Given the description of an element on the screen output the (x, y) to click on. 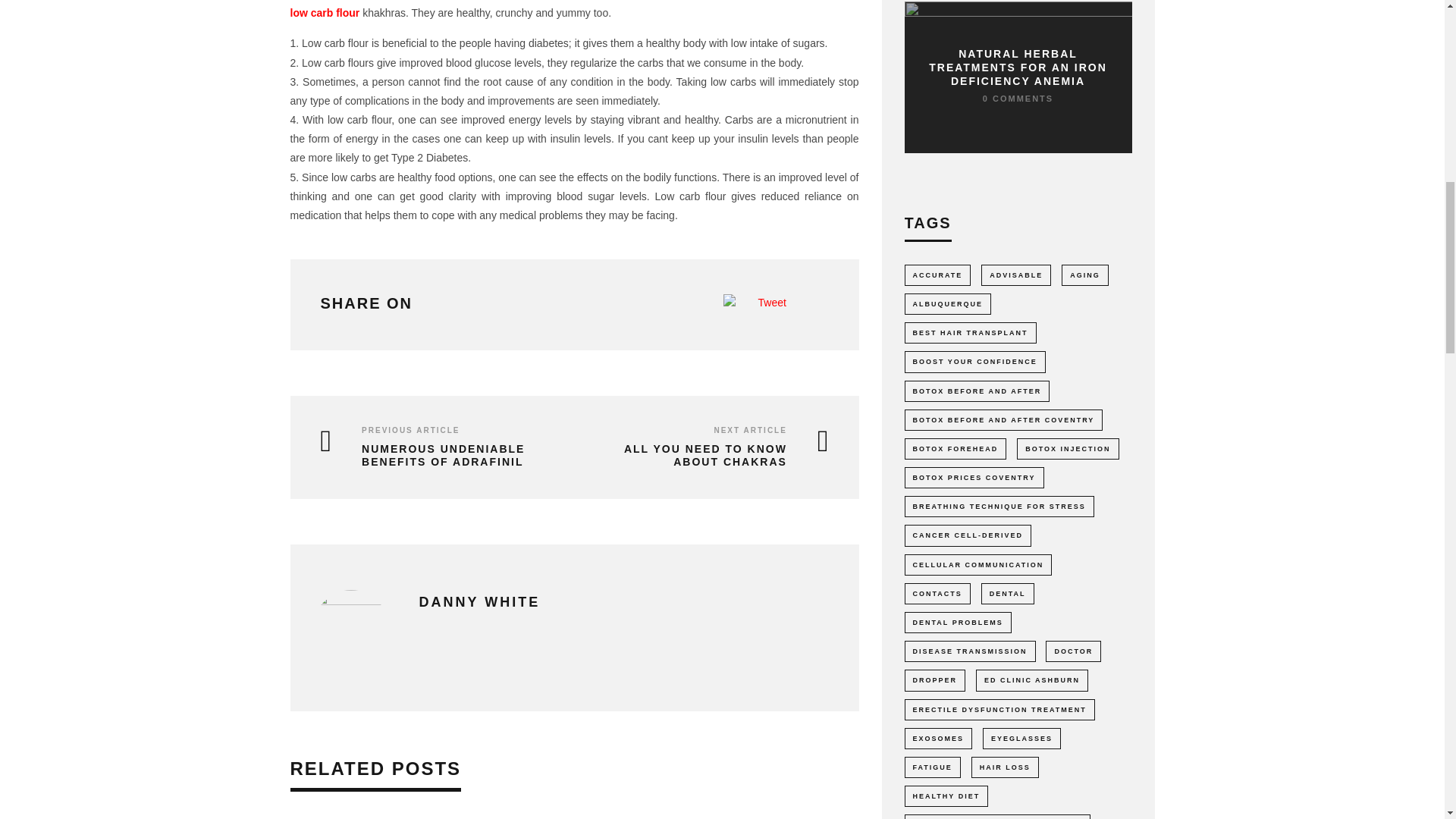
Tweet (772, 302)
NEXT ARTICLE (749, 429)
PREVIOUS ARTICLE (410, 429)
tasty low carb flour (574, 9)
ALL YOU NEED TO KNOW ABOUT CHAKRAS (705, 455)
NUMEROUS UNDENIABLE BENEFITS OF ADRAFINIL (442, 455)
